Given the description of an element on the screen output the (x, y) to click on. 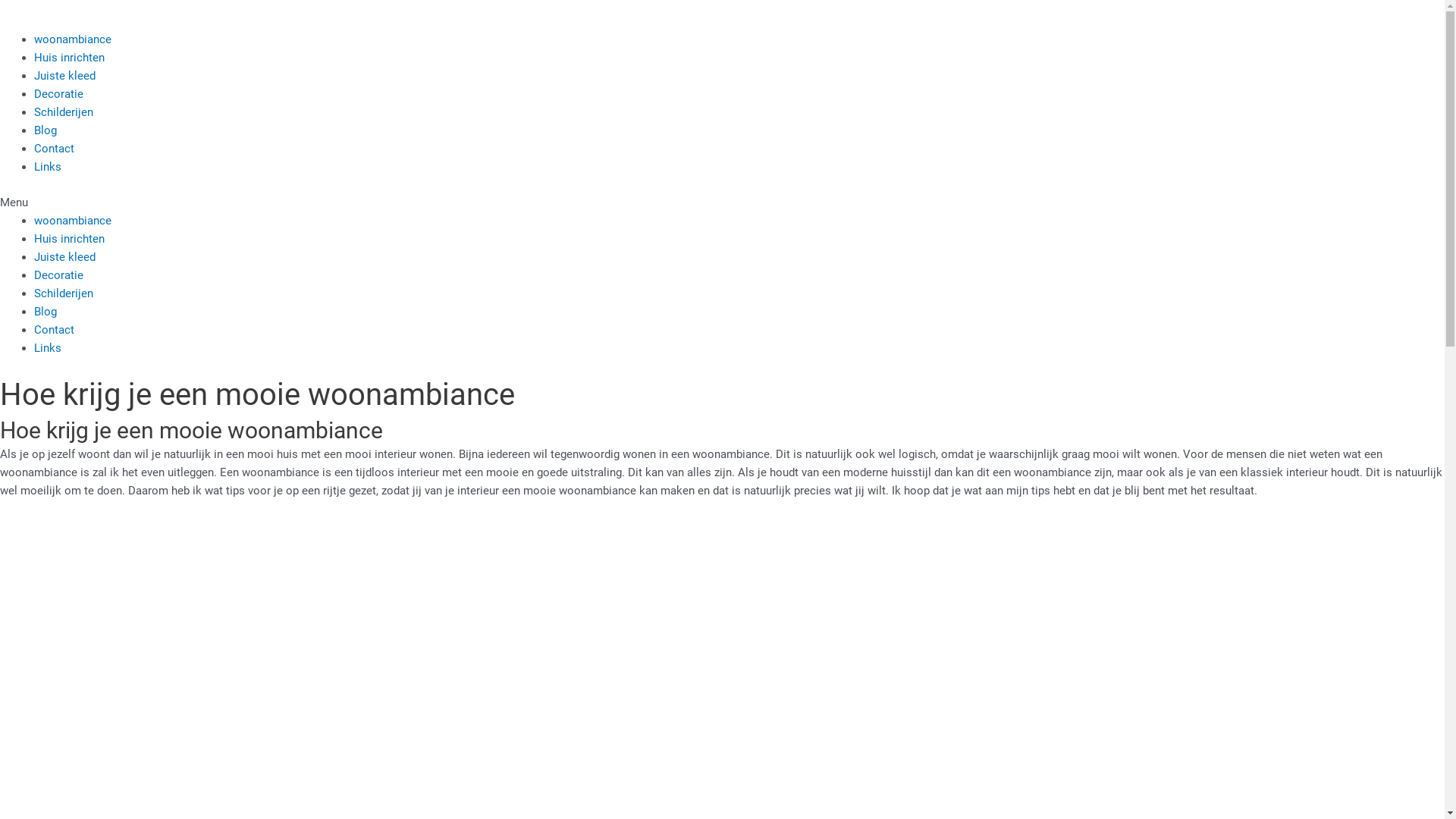
Links Element type: text (47, 166)
home-decoration Element type: hover (15, 15)
Links Element type: text (47, 347)
Juiste kleed Element type: text (64, 256)
Contact Element type: text (54, 329)
Huis inrichten Element type: text (69, 57)
Contact Element type: text (54, 148)
Huis inrichten Element type: text (69, 238)
Blog Element type: text (45, 130)
Decoratie Element type: text (58, 93)
Blog Element type: text (45, 311)
Schilderijen Element type: text (63, 293)
woonambiance Element type: text (72, 220)
woonambiance Element type: text (72, 39)
Juiste kleed Element type: text (64, 75)
Decoratie Element type: text (58, 275)
Schilderijen Element type: text (63, 112)
